Given the description of an element on the screen output the (x, y) to click on. 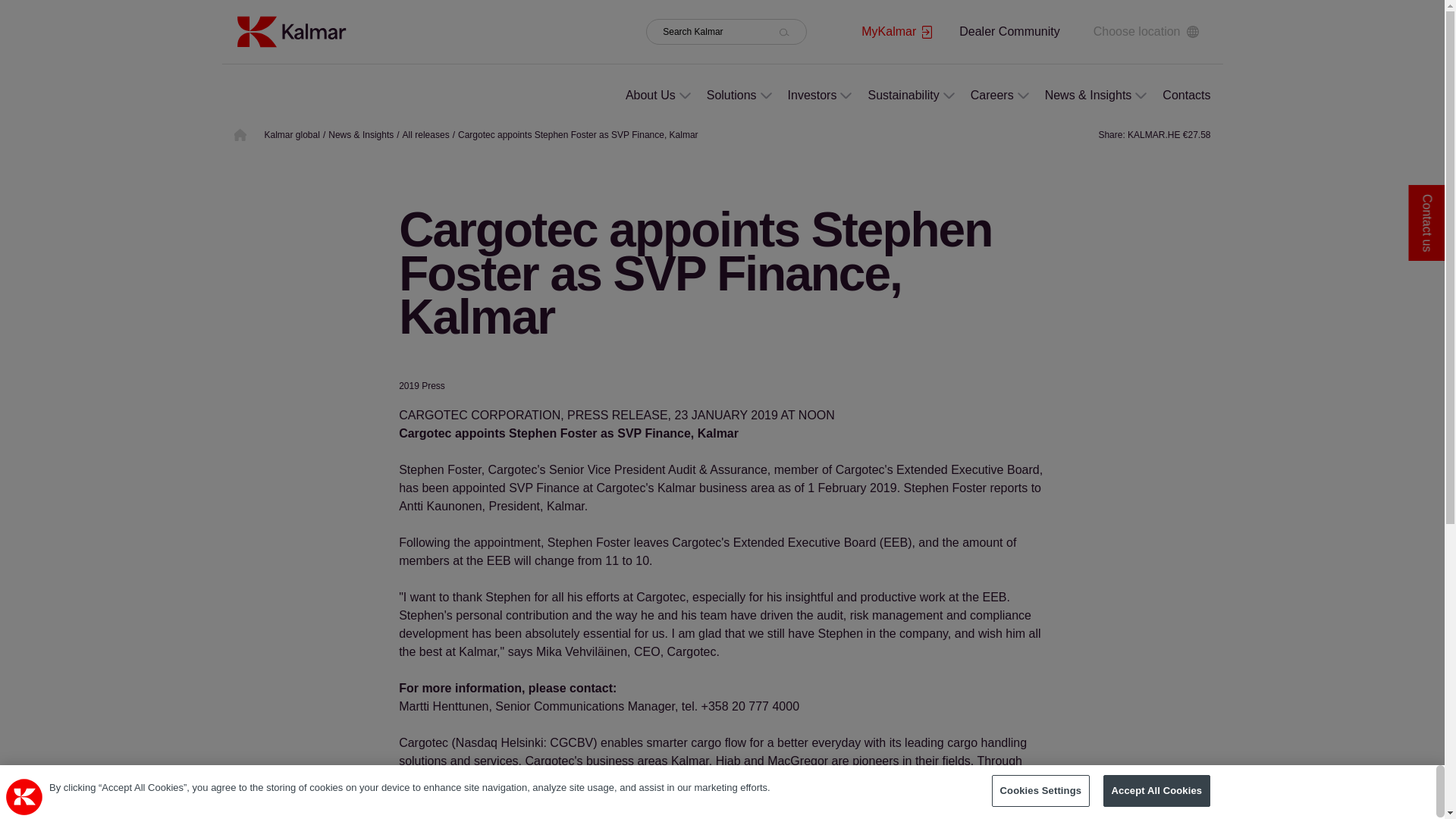
All releases (426, 134)
Home (289, 30)
Dealer Community (1009, 31)
MyKalmar (896, 31)
Kalmar global (290, 134)
Company Logo (24, 796)
Kalmar logo (289, 31)
